Given the description of an element on the screen output the (x, y) to click on. 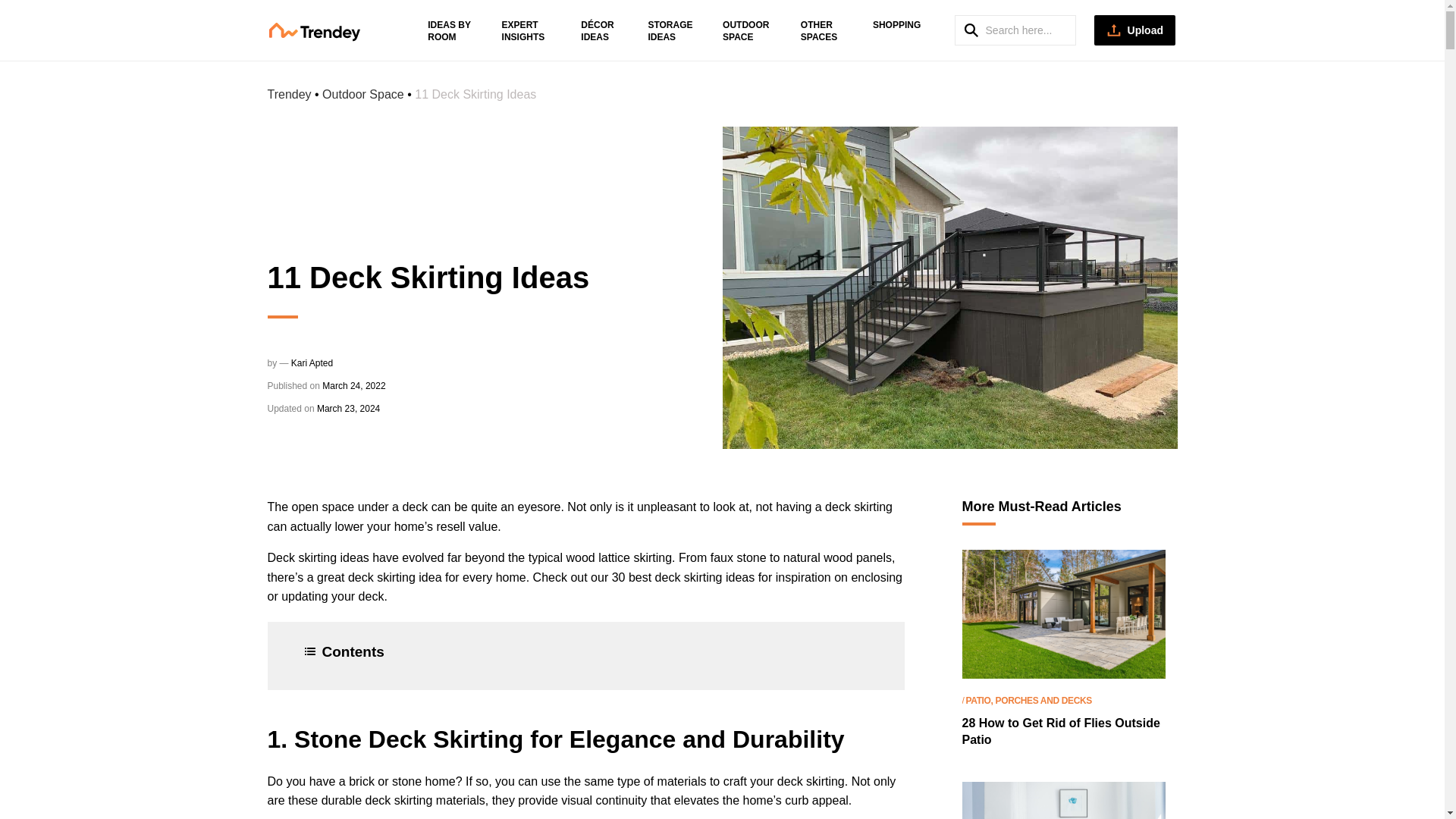
OTHER SPACES (818, 30)
IDEAS BY ROOM (449, 30)
Outdoor Space (362, 93)
Trendey (288, 93)
OUTDOOR SPACE (745, 30)
Upload (1134, 30)
Kari Apted (312, 362)
SHOPPING (896, 24)
Trendey (331, 30)
STORAGE IDEAS (670, 30)
EXPERT INSIGHTS (523, 30)
